Given the description of an element on the screen output the (x, y) to click on. 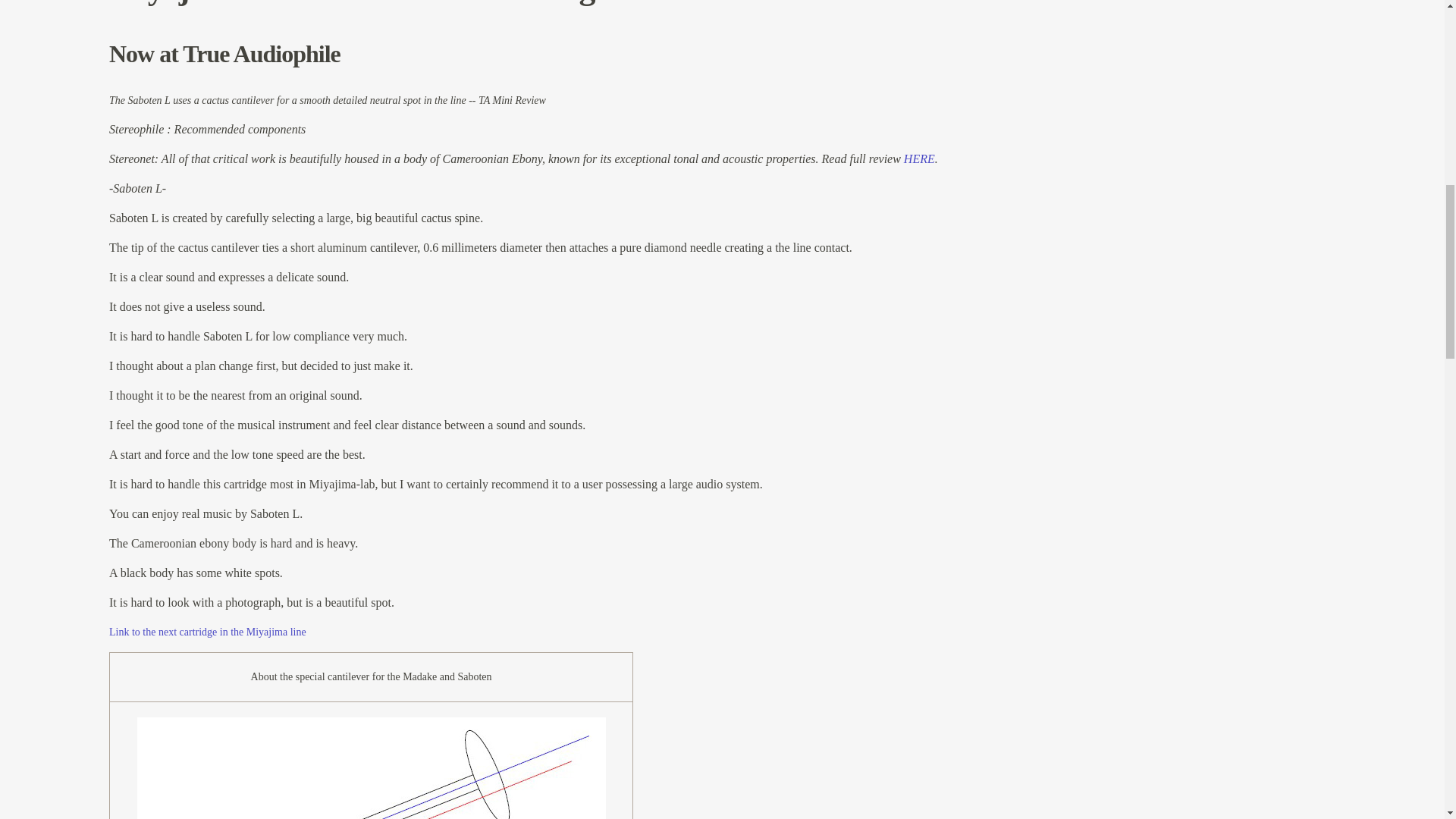
Miyajima Madake at True Audiophile (207, 632)
